Given the description of an element on the screen output the (x, y) to click on. 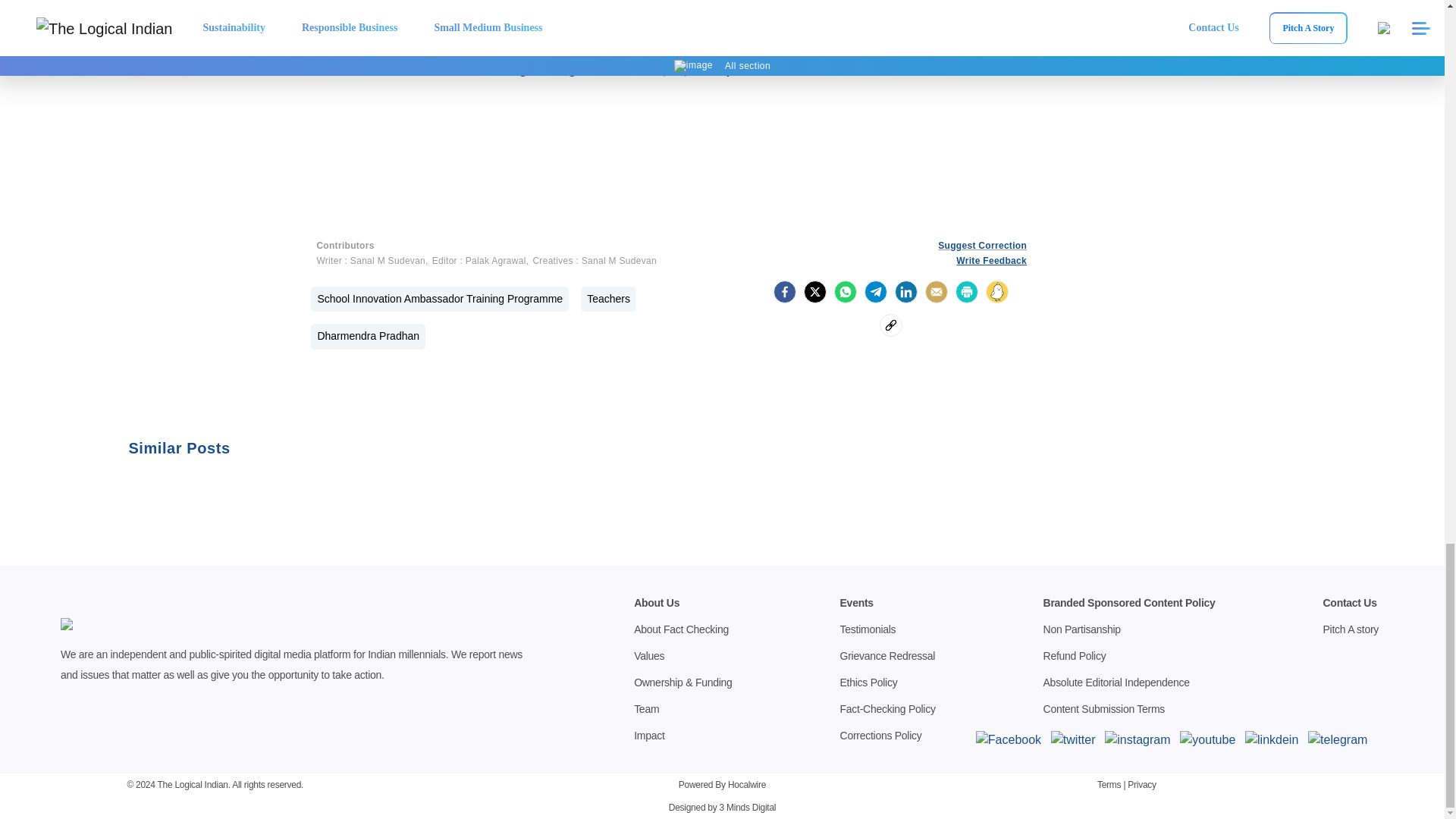
LinkedIn (906, 291)
Share by Email (935, 291)
